Given the description of an element on the screen output the (x, y) to click on. 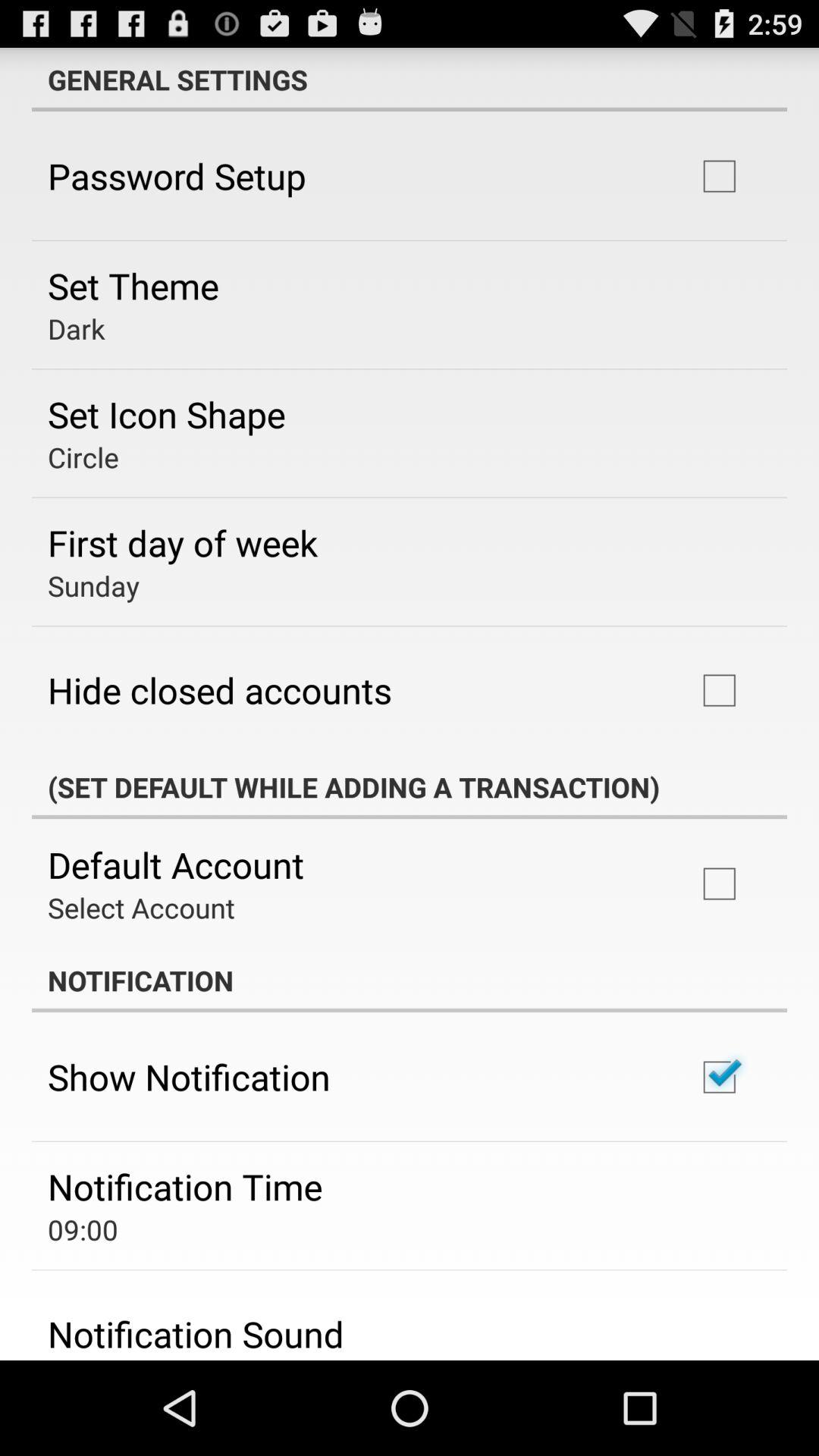
jump until the set default while (409, 787)
